Given the description of an element on the screen output the (x, y) to click on. 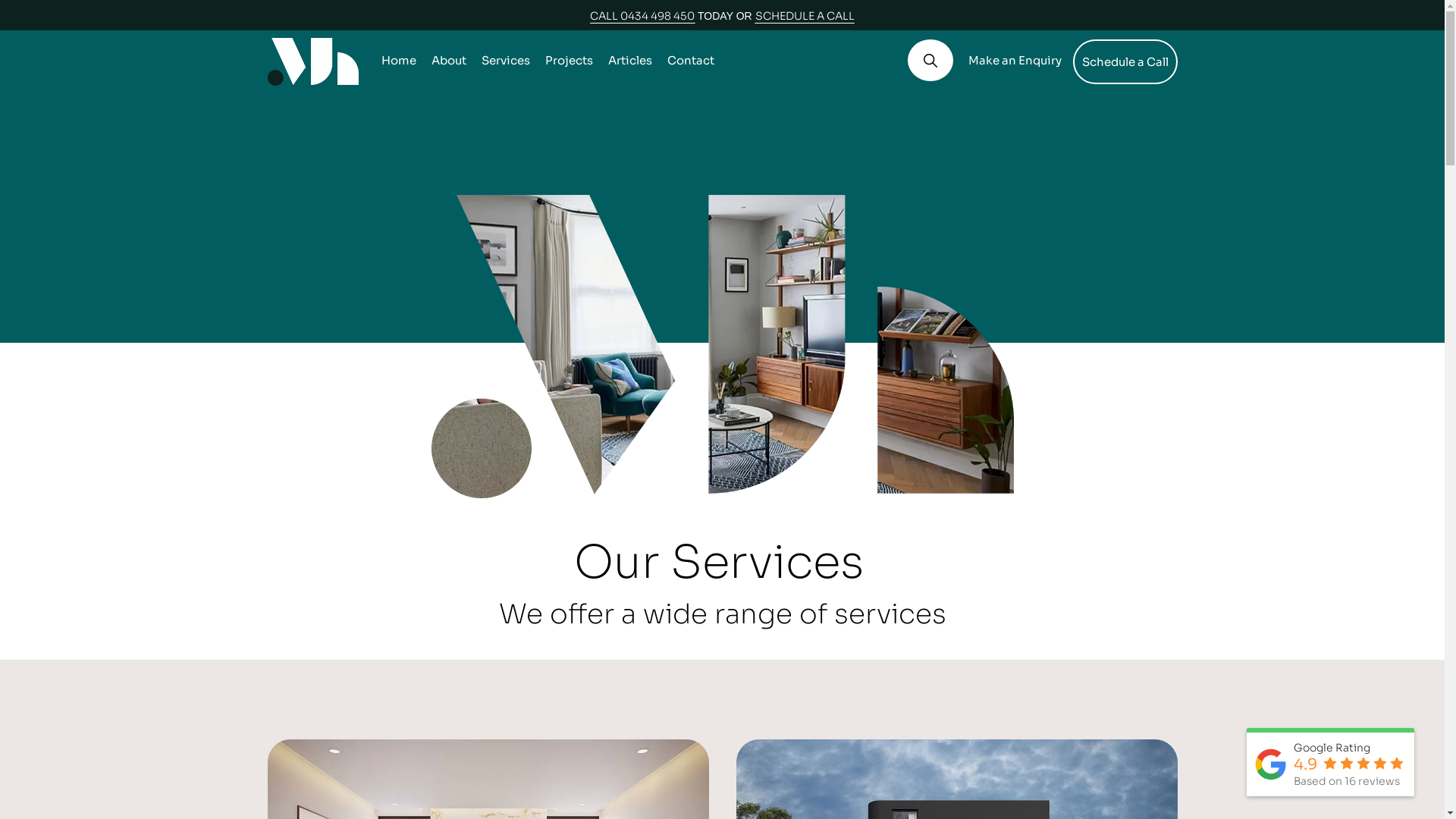
Services Element type: text (504, 60)
Contact Element type: text (690, 60)
Home Element type: text (398, 60)
Schedule a Call Element type: text (1124, 61)
Projects Element type: text (567, 60)
Skip to primary navigation Element type: text (0, 0)
CALL 0434 498 450 Element type: text (641, 15)
Make an Enquiry Element type: text (1014, 60)
SCHEDULE A CALL Element type: text (804, 15)
Articles Element type: text (629, 60)
Show Search Element type: text (929, 60)
About Element type: text (448, 60)
